Given the description of an element on the screen output the (x, y) to click on. 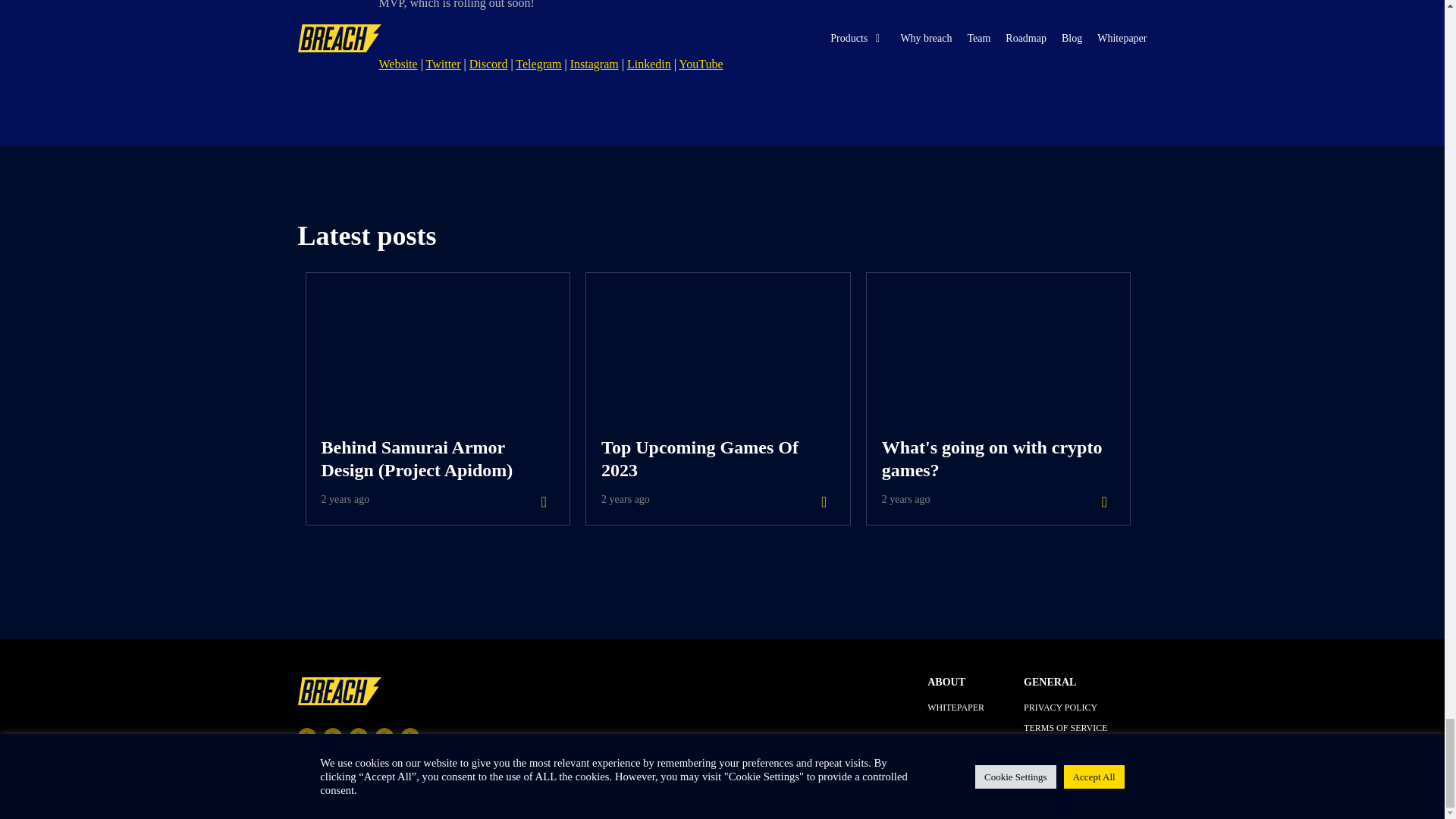
Linkedin (649, 63)
Telegram (537, 63)
Instagram (594, 63)
WHITEPAPER (998, 398)
YouTube (955, 706)
TERMS OF SERVICE (700, 63)
PRIVACY POLICY (717, 398)
Twitter (1064, 727)
Discord (1064, 706)
Website (443, 63)
